Given the description of an element on the screen output the (x, y) to click on. 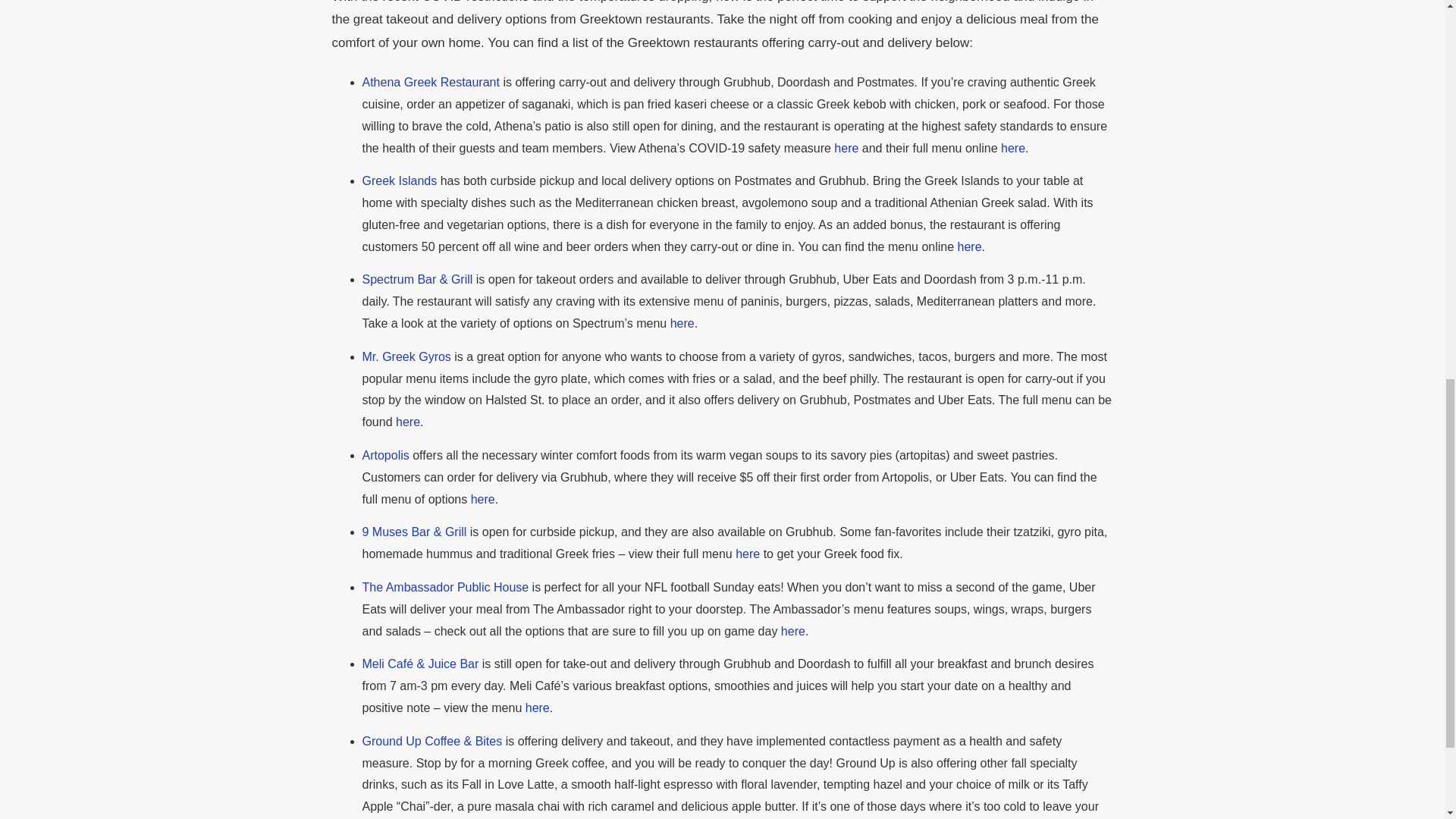
here (406, 421)
here (481, 499)
here (791, 631)
The Ambassador Public House (445, 586)
here (969, 246)
Greek Islands (400, 180)
here (1011, 146)
Artopolis (385, 454)
here (681, 323)
Mr. Greek Gyros (406, 356)
